Given the description of an element on the screen output the (x, y) to click on. 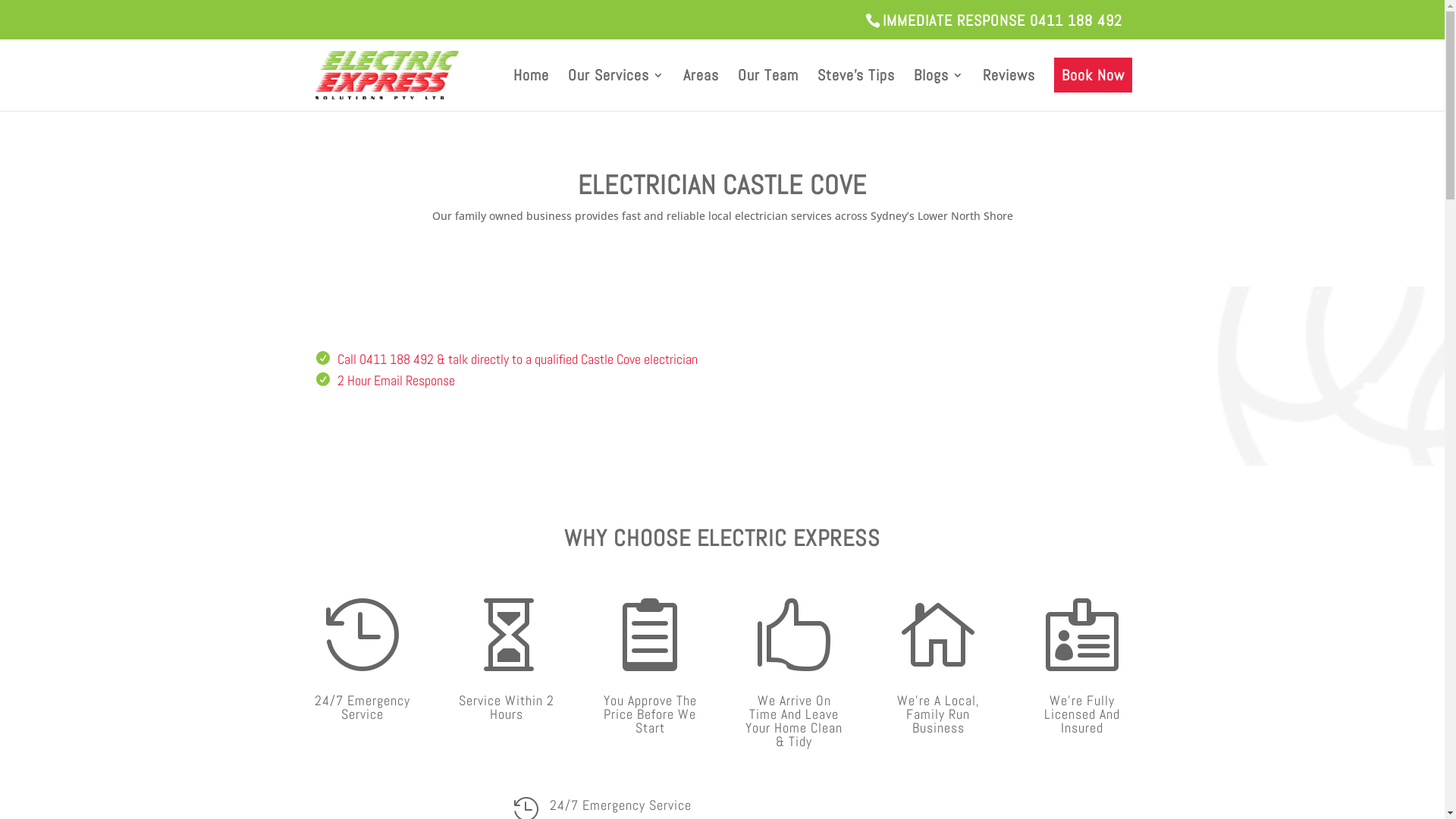
Our Team Element type: text (767, 89)
Home Element type: text (530, 89)
Areas Element type: text (700, 89)
Reviews Element type: text (1008, 89)
0411 188 492 Element type: text (396, 358)
0411 188 492 Element type: text (1075, 20)
Book Now Element type: text (1093, 89)
Blogs Element type: text (938, 89)
Our Services Element type: text (615, 89)
